Given the description of an element on the screen output the (x, y) to click on. 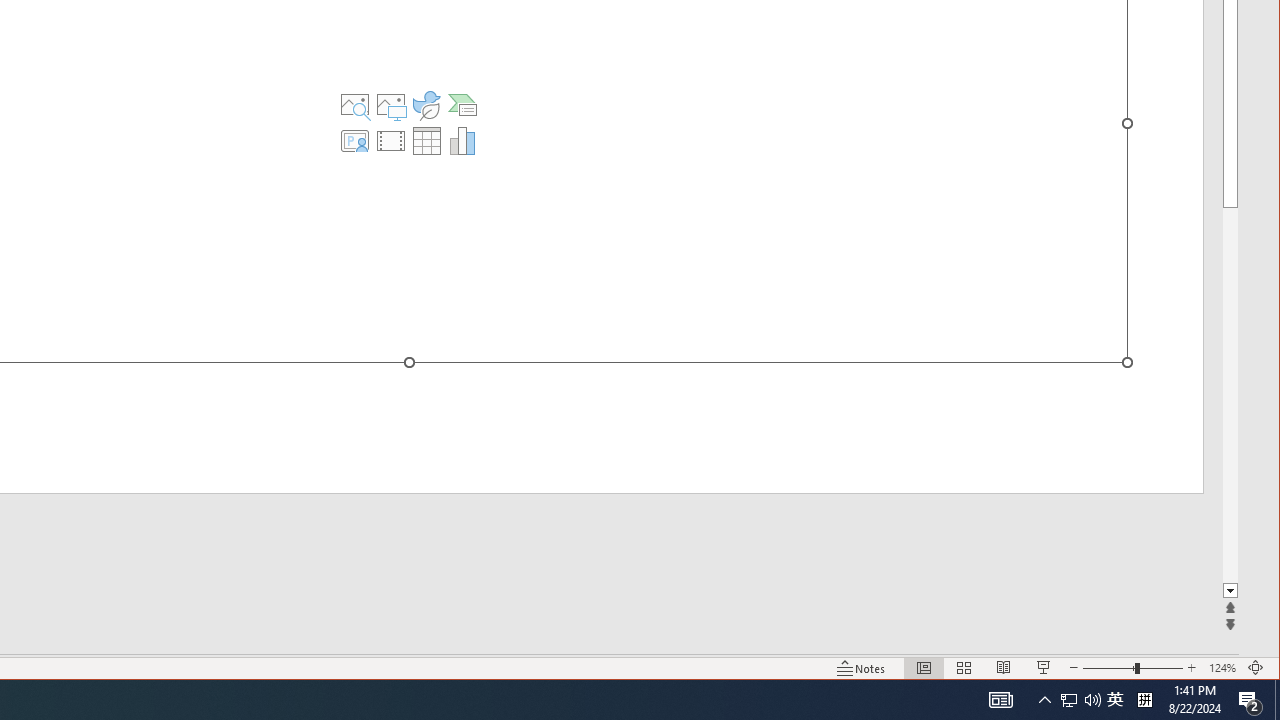
Insert Table (426, 140)
Zoom 124% (1222, 668)
Insert Video (391, 140)
Insert an Icon (426, 104)
Insert a SmartArt Graphic (462, 104)
